Given the description of an element on the screen output the (x, y) to click on. 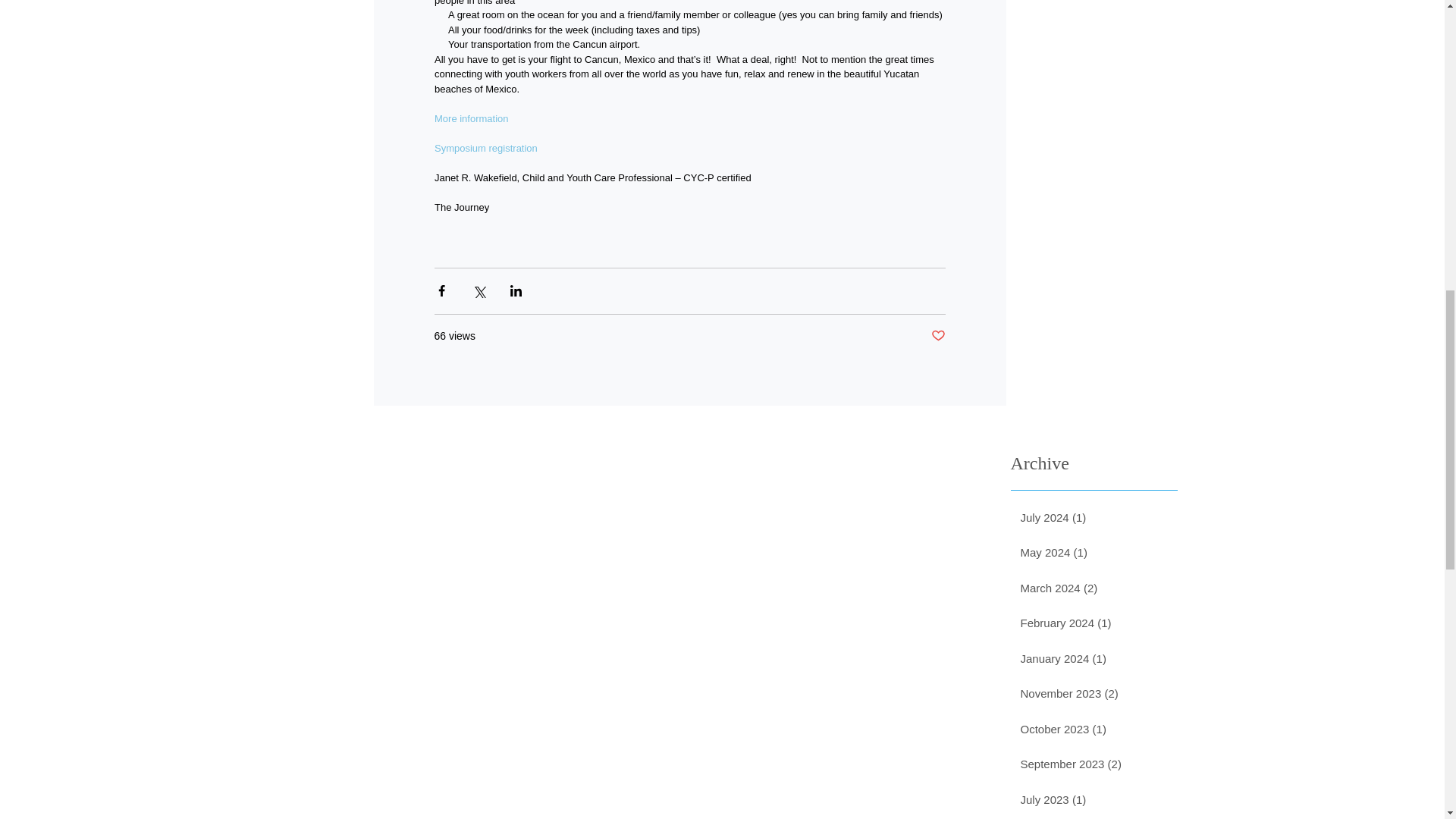
More information (470, 118)
Post not marked as liked (937, 335)
Symposium registration (485, 147)
